Given the description of an element on the screen output the (x, y) to click on. 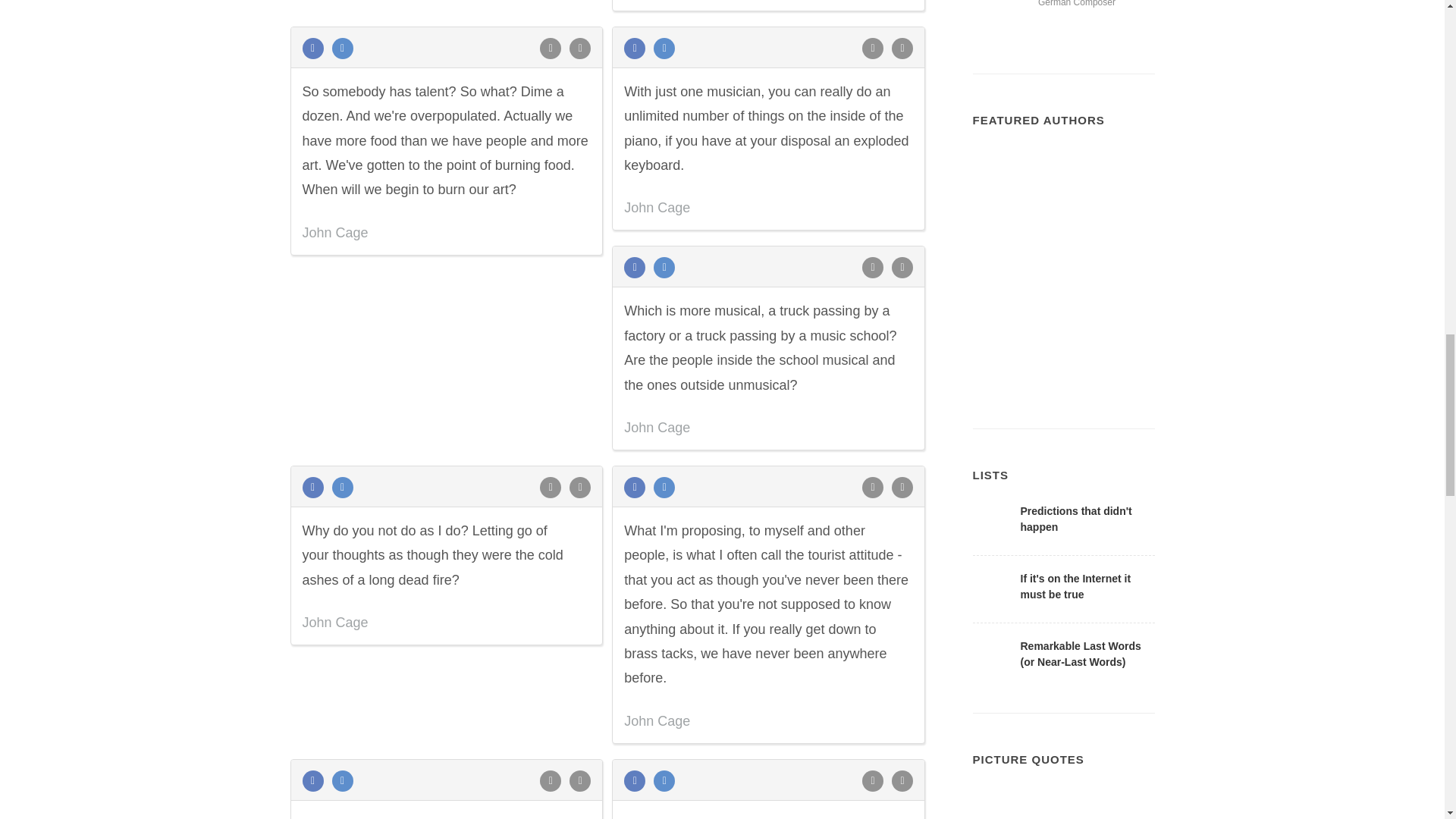
Ezra Pound (1002, 298)
Blaise Pascal (1063, 298)
Alexander Graham Bell (1124, 238)
Che Guevara (1063, 359)
Bertolt Brecht (1124, 298)
Karlheinz Stockhausen (1002, 15)
Anton Chekhov (1002, 238)
Lao Tzu (1124, 359)
Julius Caesar (1063, 238)
Montesquieu (1124, 177)
